Given the description of an element on the screen output the (x, y) to click on. 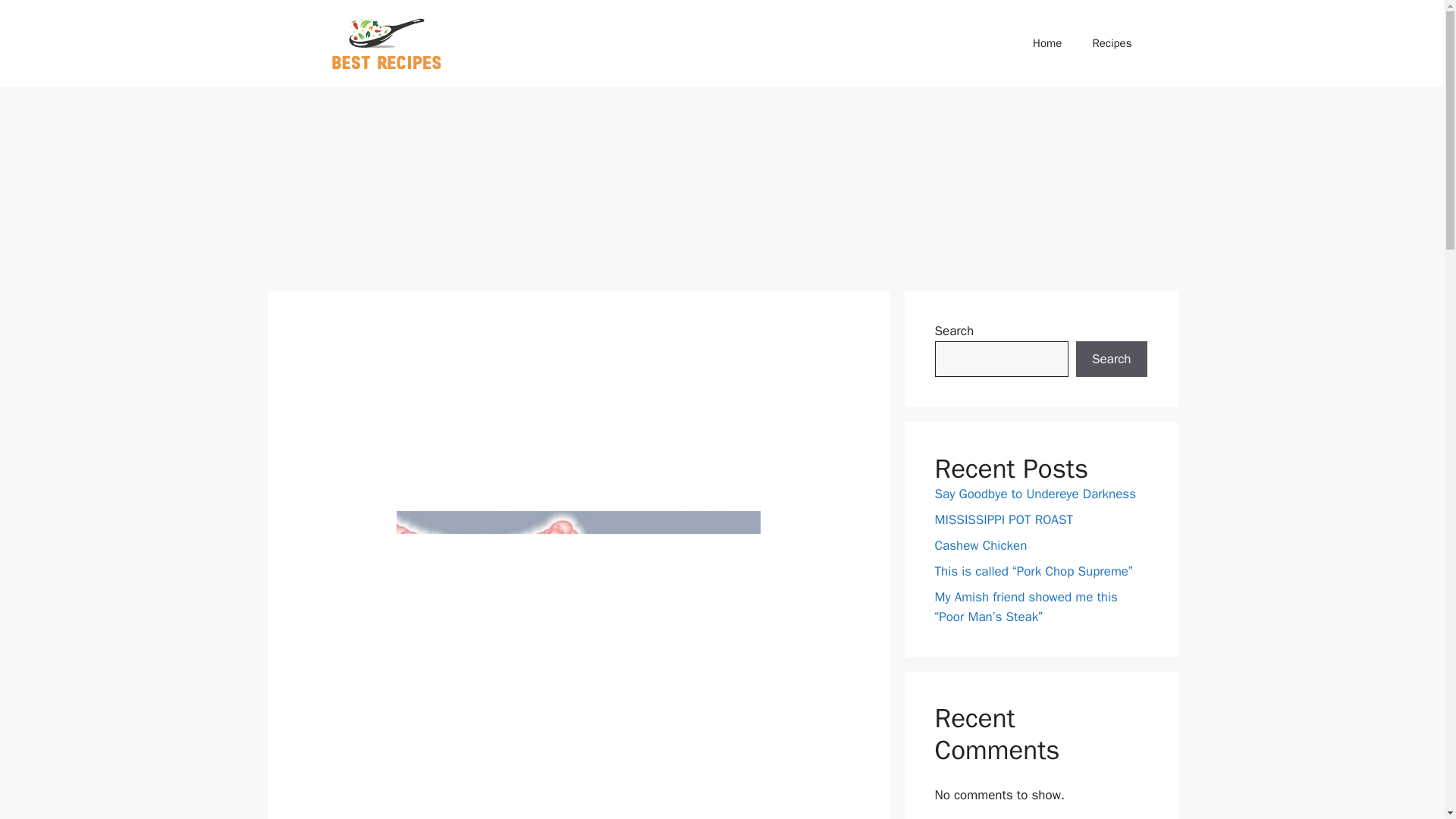
Recipes (1112, 43)
MISSISSIPPI POT ROAST (1002, 519)
Say Goodbye to Undereye Darkness (1034, 494)
Cashew Chicken (980, 545)
Home (1047, 43)
Search (1111, 359)
